Given the description of an element on the screen output the (x, y) to click on. 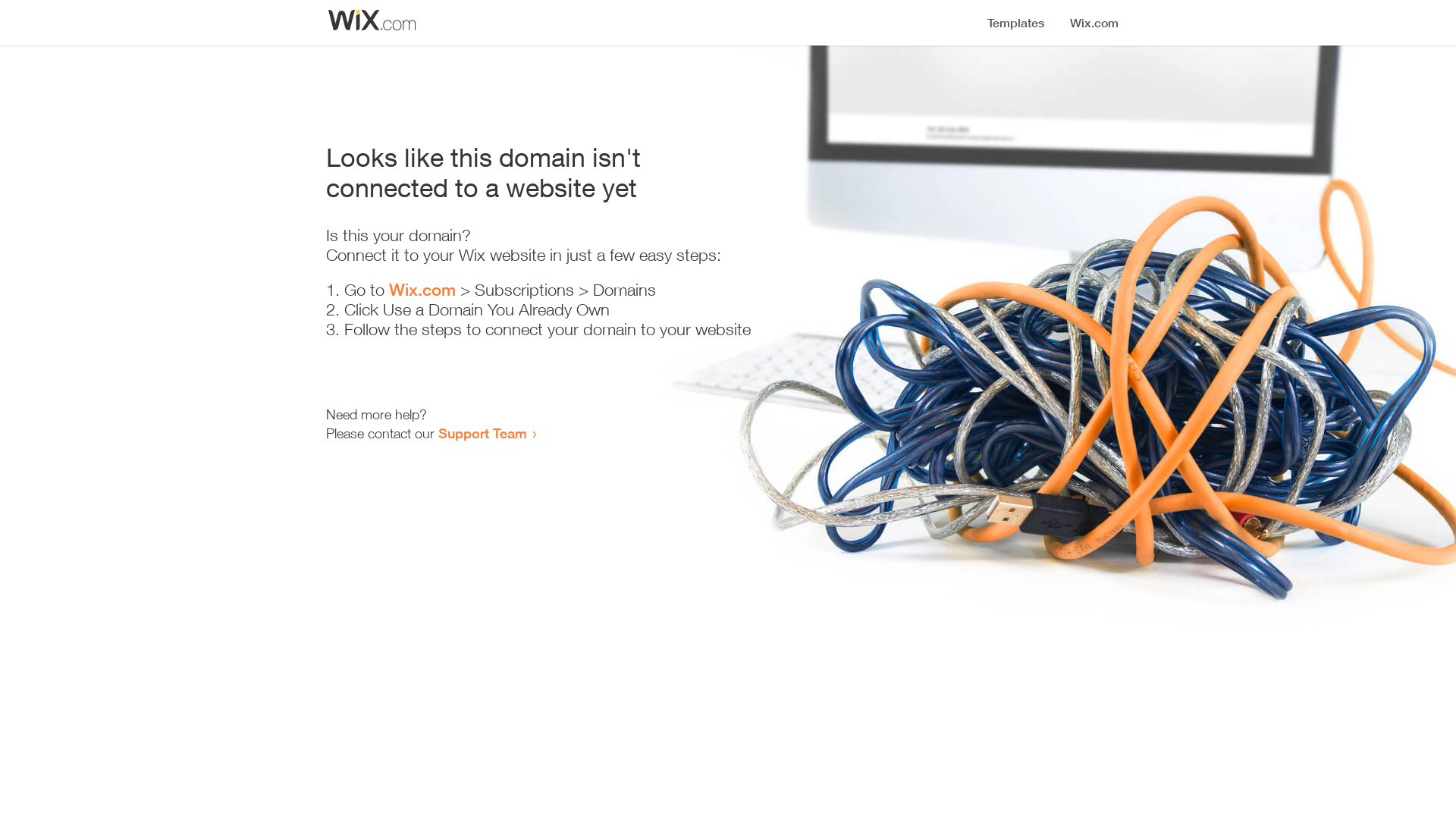
Support Team Element type: text (482, 432)
Wix.com Element type: text (422, 289)
